Given the description of an element on the screen output the (x, y) to click on. 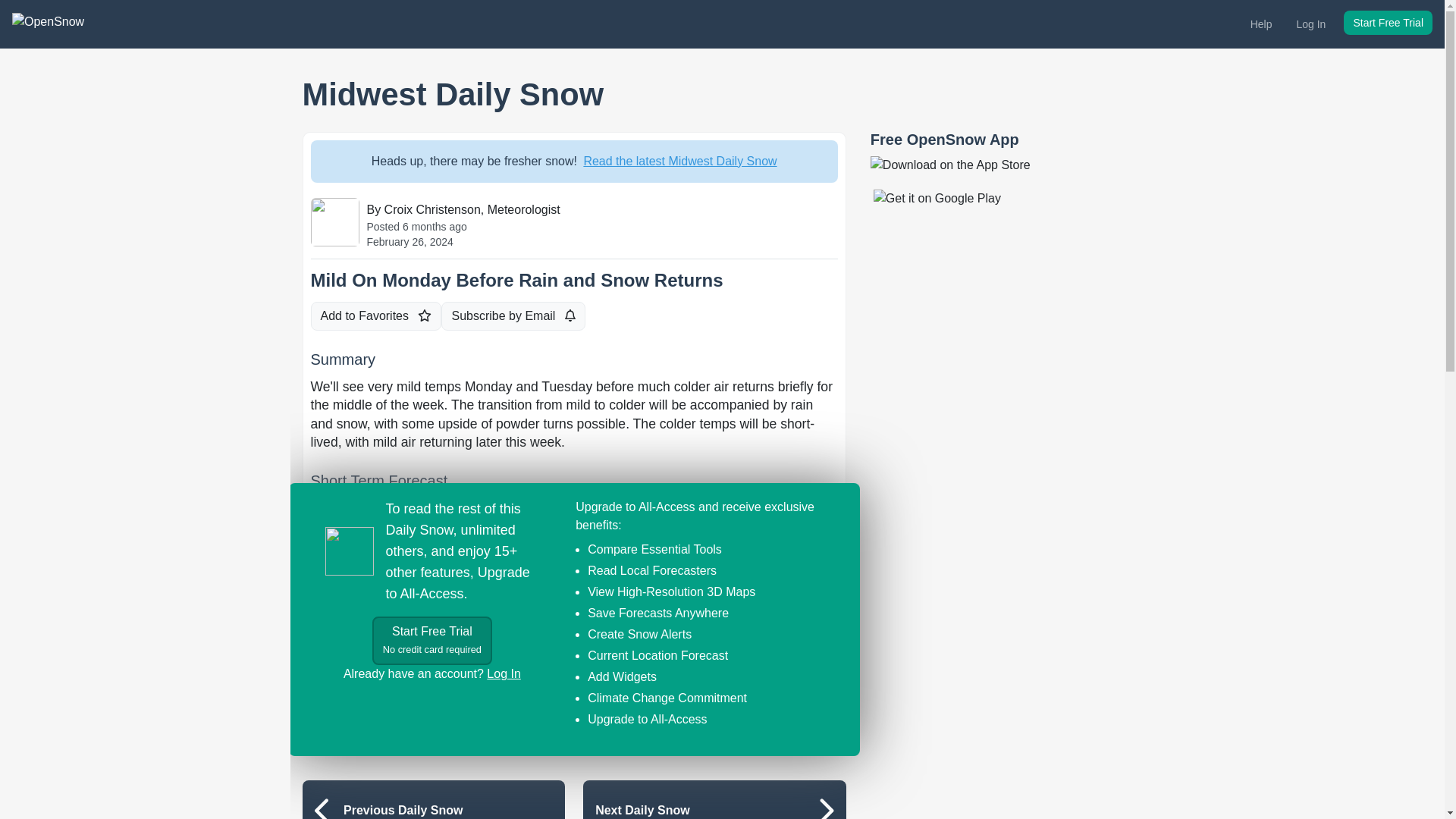
Start Free Trial (1387, 22)
Next Daily Snow (714, 799)
Add to Favorites (376, 316)
Read the latest Midwest Daily Snow (432, 640)
Mild On Monday Before Rain and Snow Returns (679, 160)
Previous Daily Snow (517, 280)
Help (432, 799)
Log In (1261, 23)
Subscribe by Email (502, 673)
